Given the description of an element on the screen output the (x, y) to click on. 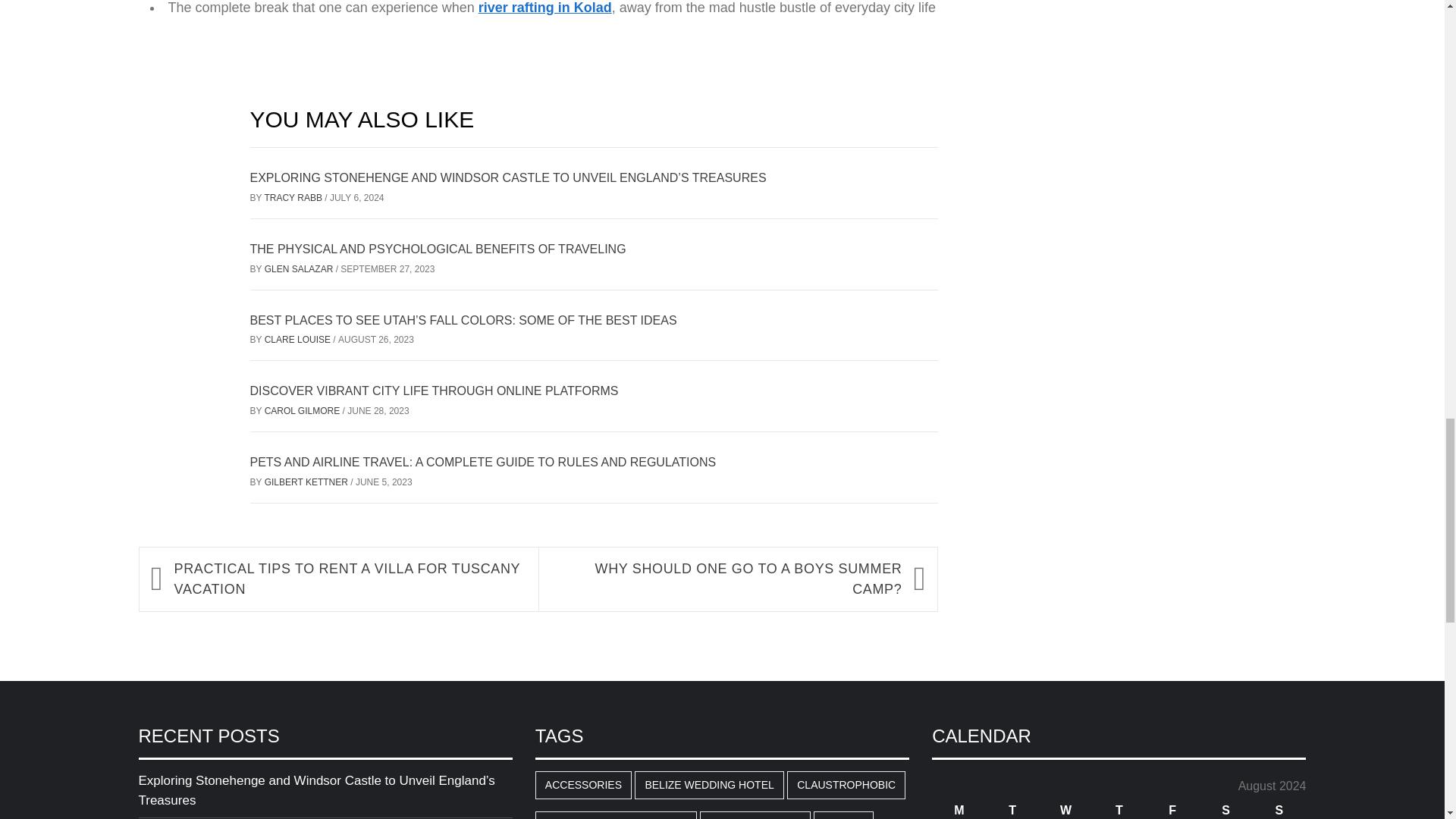
Thursday (1119, 810)
THE PHYSICAL AND PSYCHOLOGICAL BENEFITS OF TRAVELING (438, 248)
Tuesday (1012, 810)
WHY SHOULD ONE GO TO A BOYS SUMMER CAMP? (726, 578)
GLEN SALAZAR (300, 268)
GILBERT KETTNER (307, 481)
Saturday (1225, 810)
river rafting in Kolad (545, 7)
DISCOVER VIBRANT CITY LIFE THROUGH ONLINE PLATFORMS (434, 390)
